Given the description of an element on the screen output the (x, y) to click on. 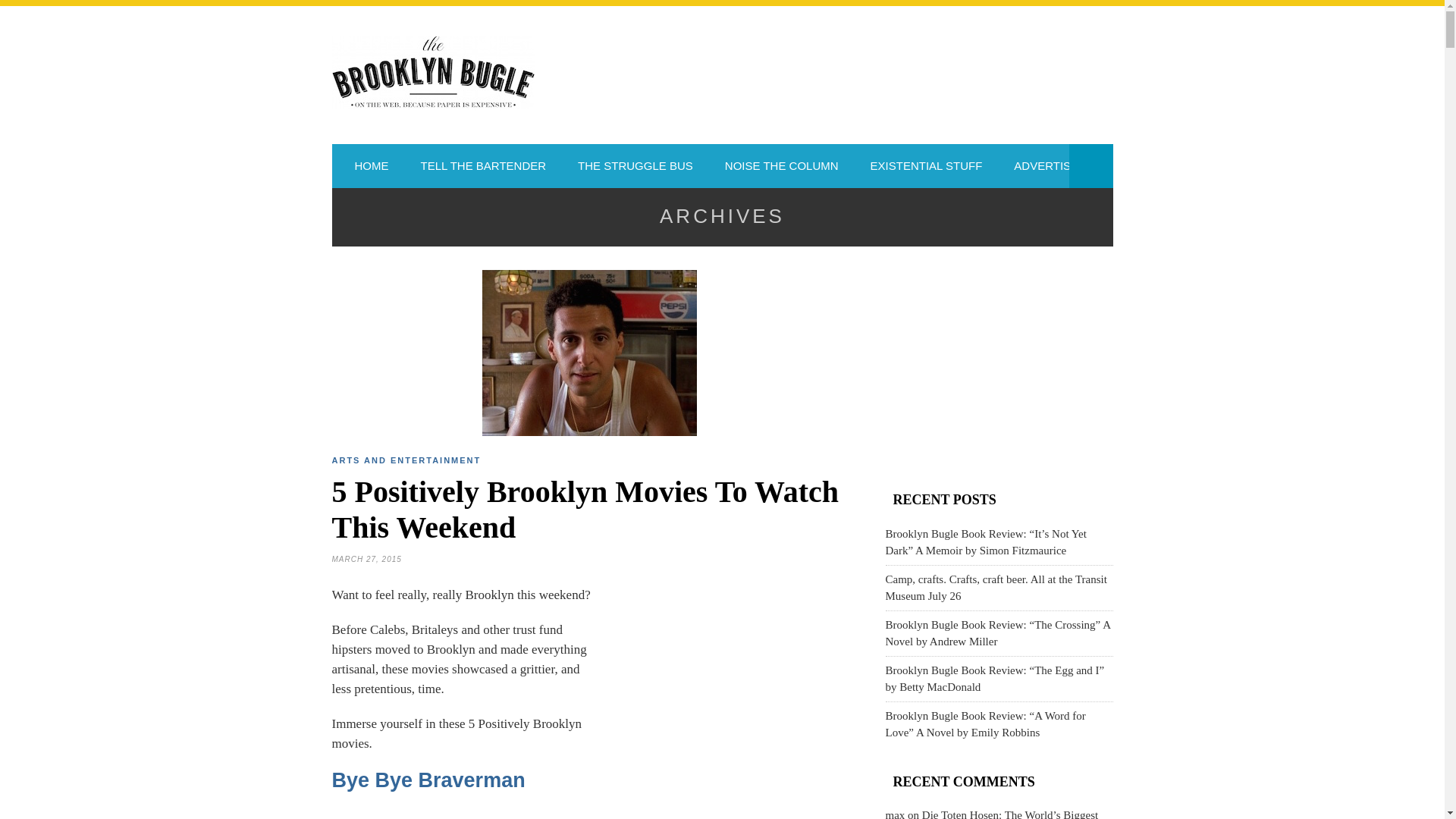
ADVERTISE (1045, 166)
ARTS AND ENTERTAINMENT (406, 460)
EXISTENTIAL STUFF (926, 166)
THE STRUGGLE BUS (635, 166)
Bye Bye Braverman (428, 780)
NOISE THE COLUMN (781, 166)
3rd party ad content (733, 687)
TELL THE BARTENDER (483, 166)
View all posts in Arts and Entertainment (406, 460)
5 Positively Brooklyn Movies To Watch This Weekend (585, 509)
